Given the description of an element on the screen output the (x, y) to click on. 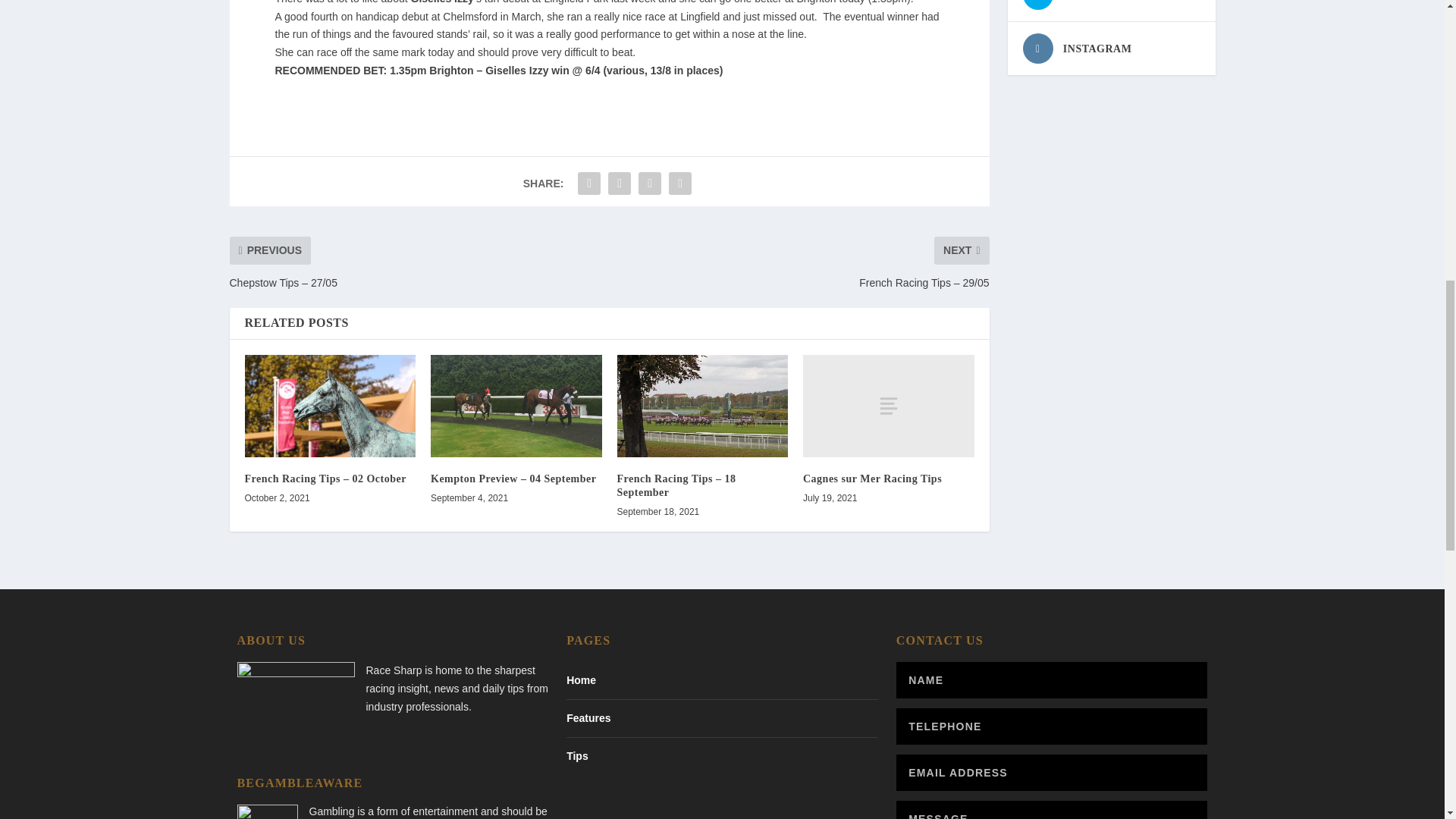
Cagnes sur Mer Racing Tips (888, 405)
